Given the description of an element on the screen output the (x, y) to click on. 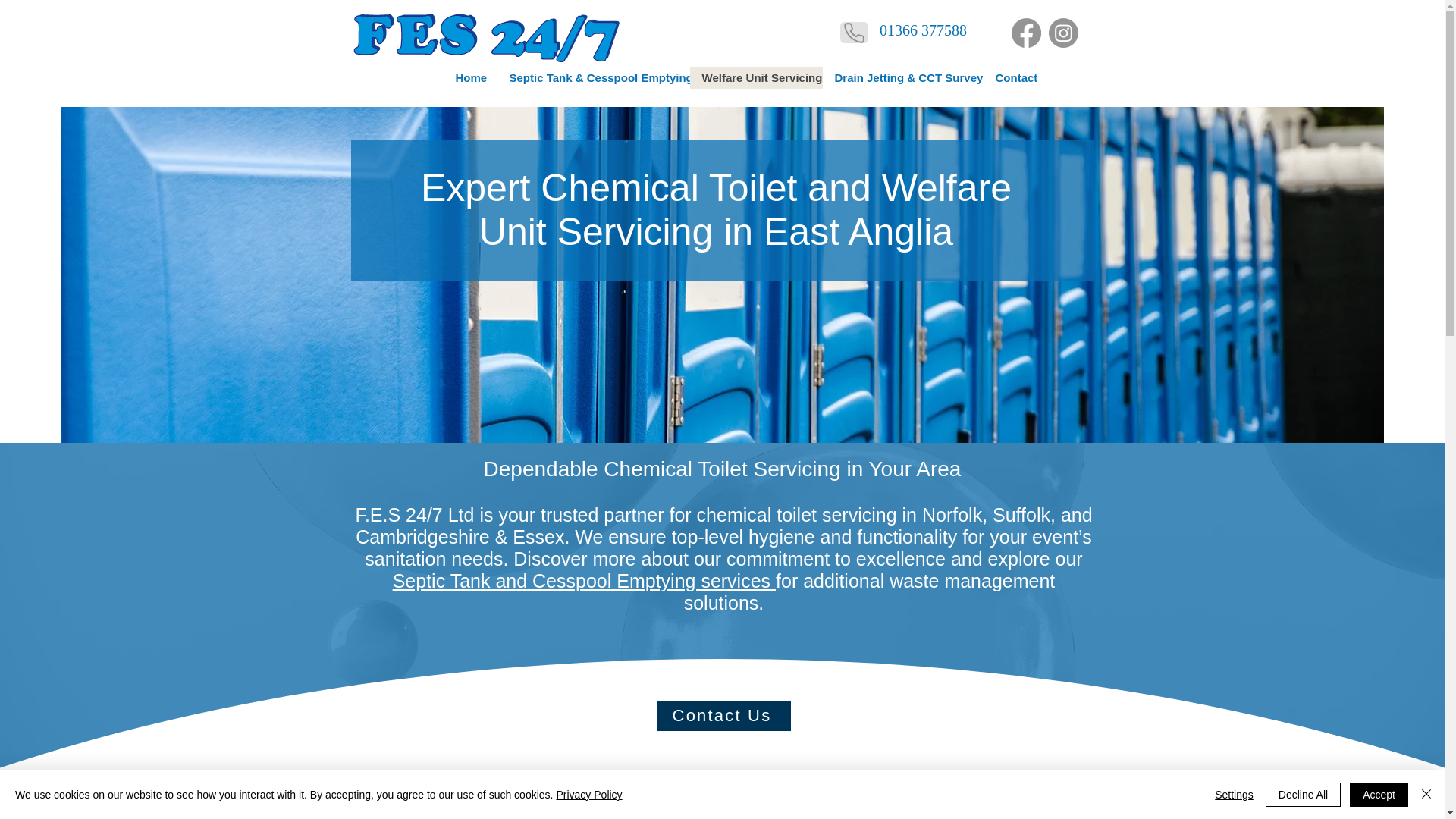
Contact Us (723, 716)
Septic Tank and Cesspool Emptying services (584, 580)
Privacy Policy (588, 794)
Contact (1013, 77)
Welfare Unit Servicing (756, 77)
Decline All (1302, 794)
Accept (1378, 794)
Home (469, 77)
